Given the description of an element on the screen output the (x, y) to click on. 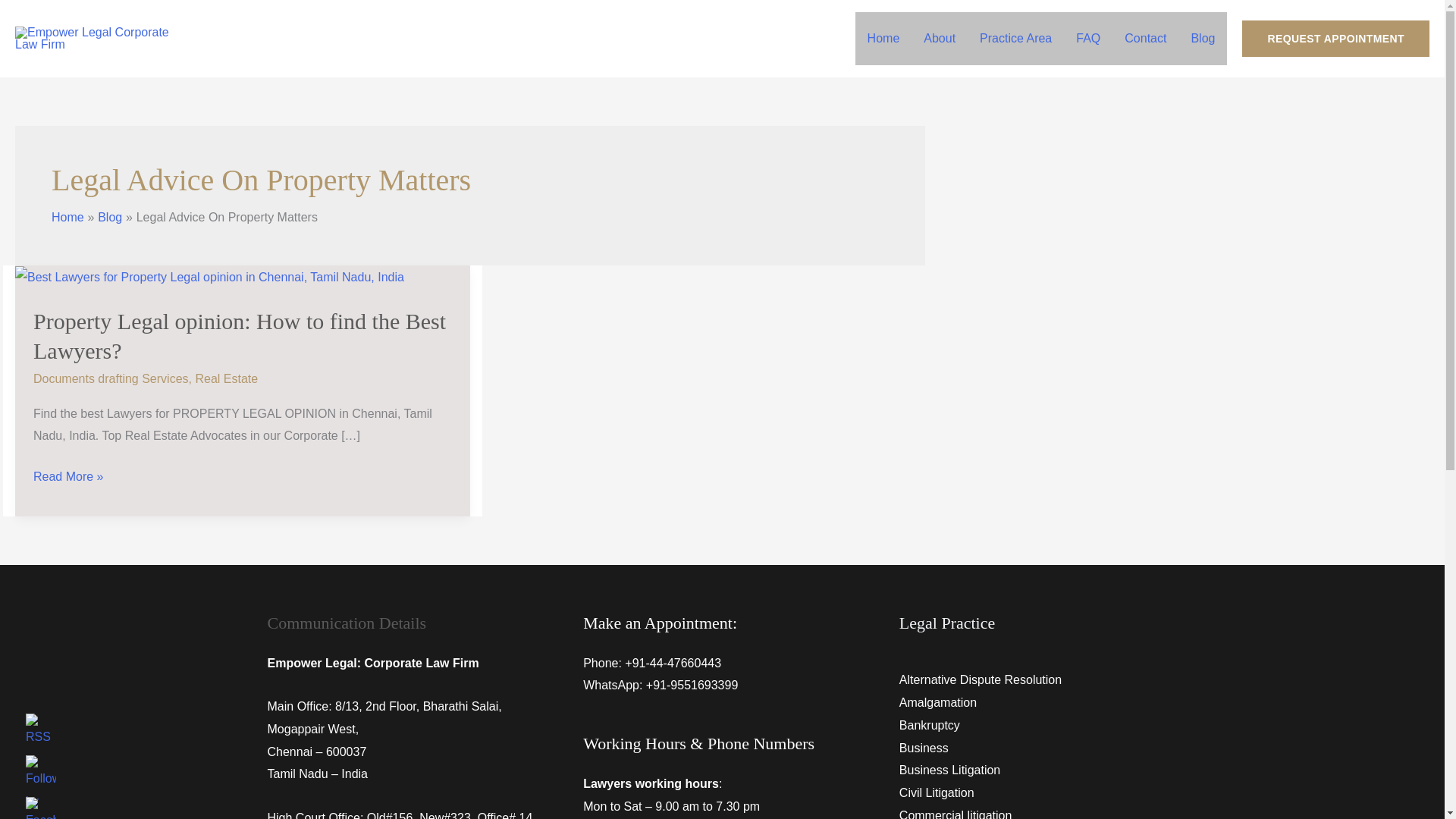
Blog (109, 216)
REQUEST APPOINTMENT (1335, 38)
Blog (1202, 38)
Real Estate (226, 378)
Bankruptcy (929, 725)
Practice Area (1016, 38)
Contact (1144, 38)
Documents drafting Services (111, 378)
Facebook (41, 807)
Civil Litigation (936, 792)
